Given the description of an element on the screen output the (x, y) to click on. 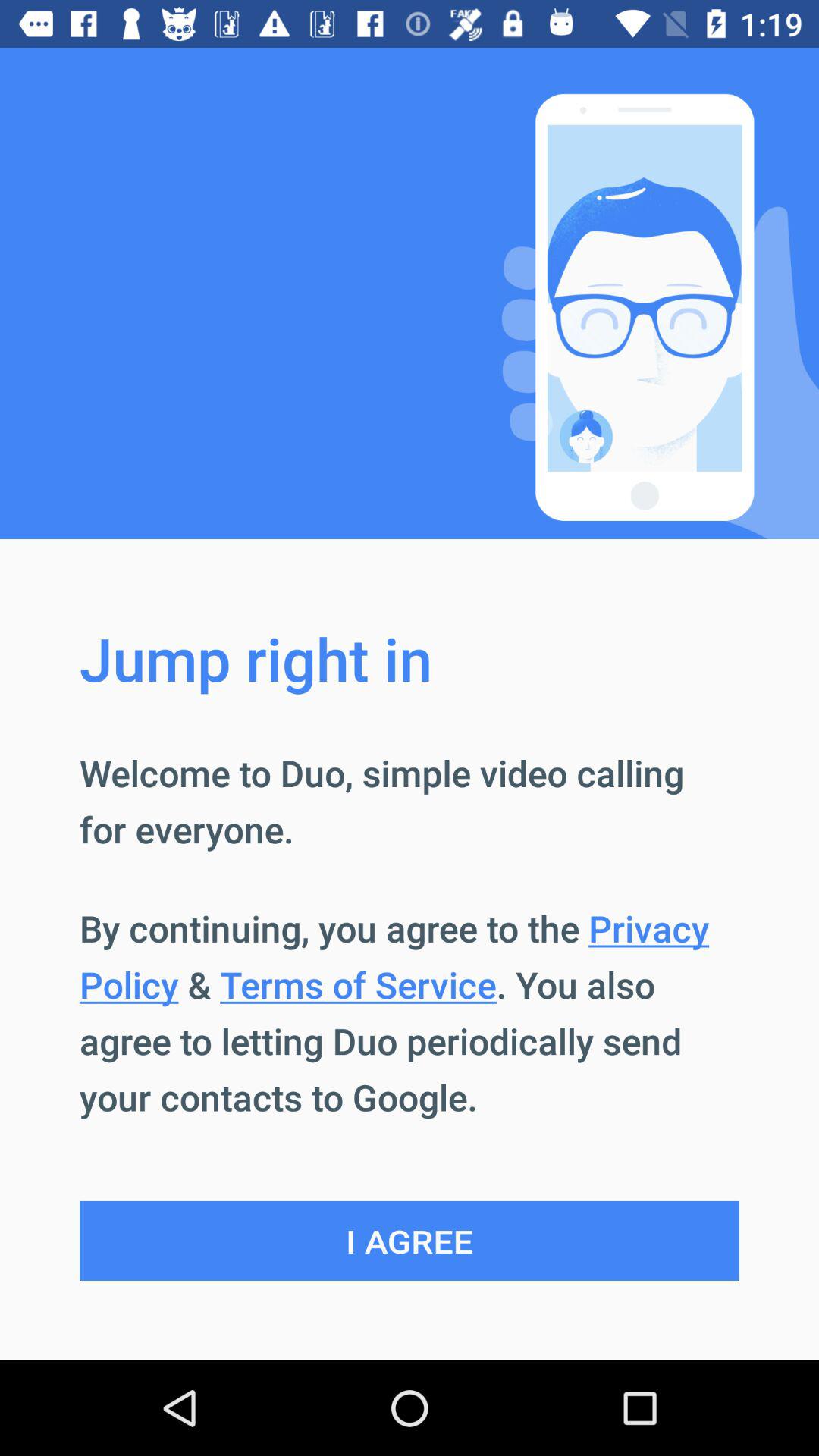
turn off the button above i agree item (409, 1012)
